Given the description of an element on the screen output the (x, y) to click on. 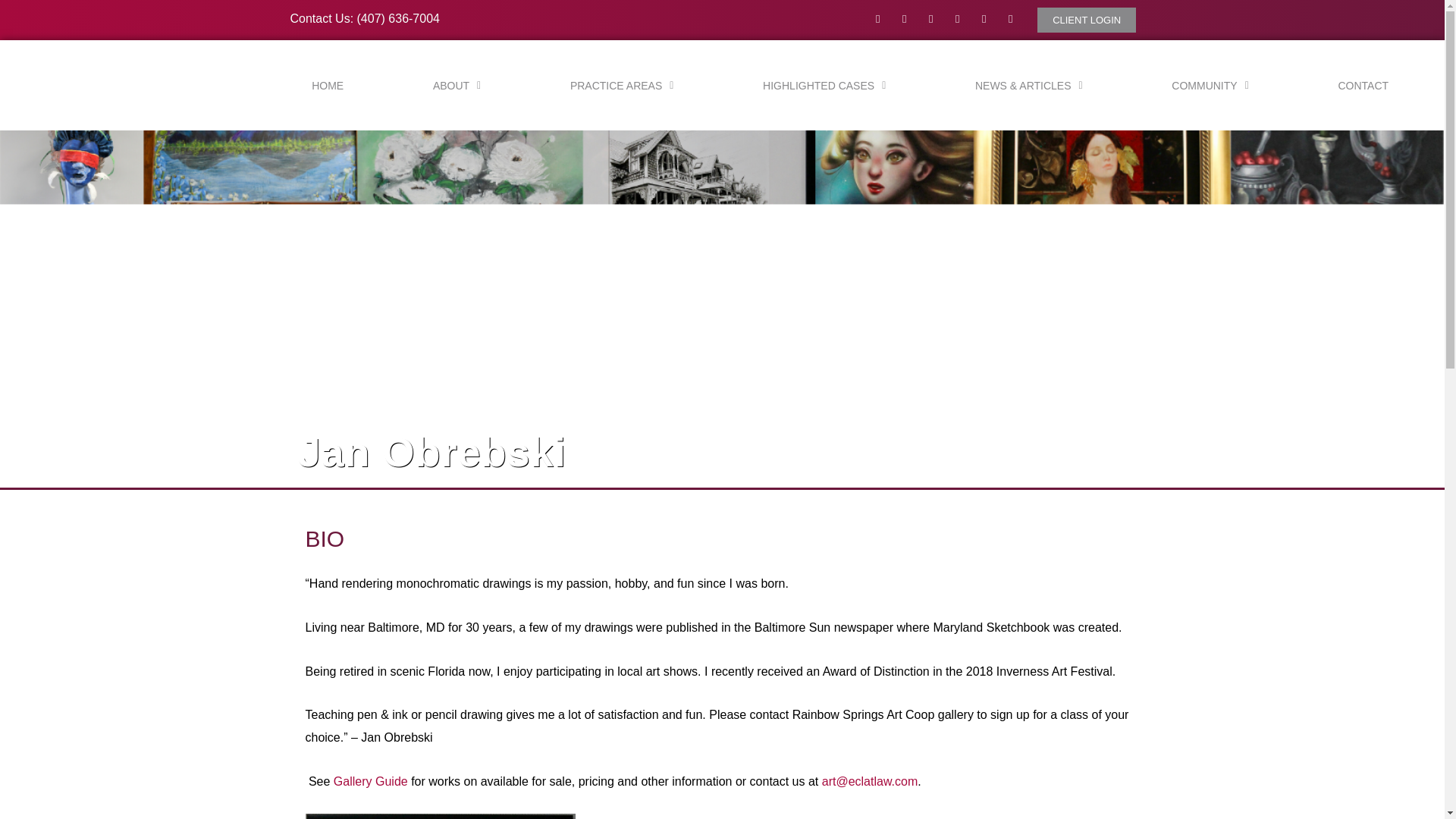
HIGHLIGHTED CASES (823, 85)
HOME (327, 85)
ABOUT (456, 85)
COMMUNITY (1209, 85)
CLIENT LOGIN (1085, 19)
PRACTICE AREAS (621, 85)
